Given the description of an element on the screen output the (x, y) to click on. 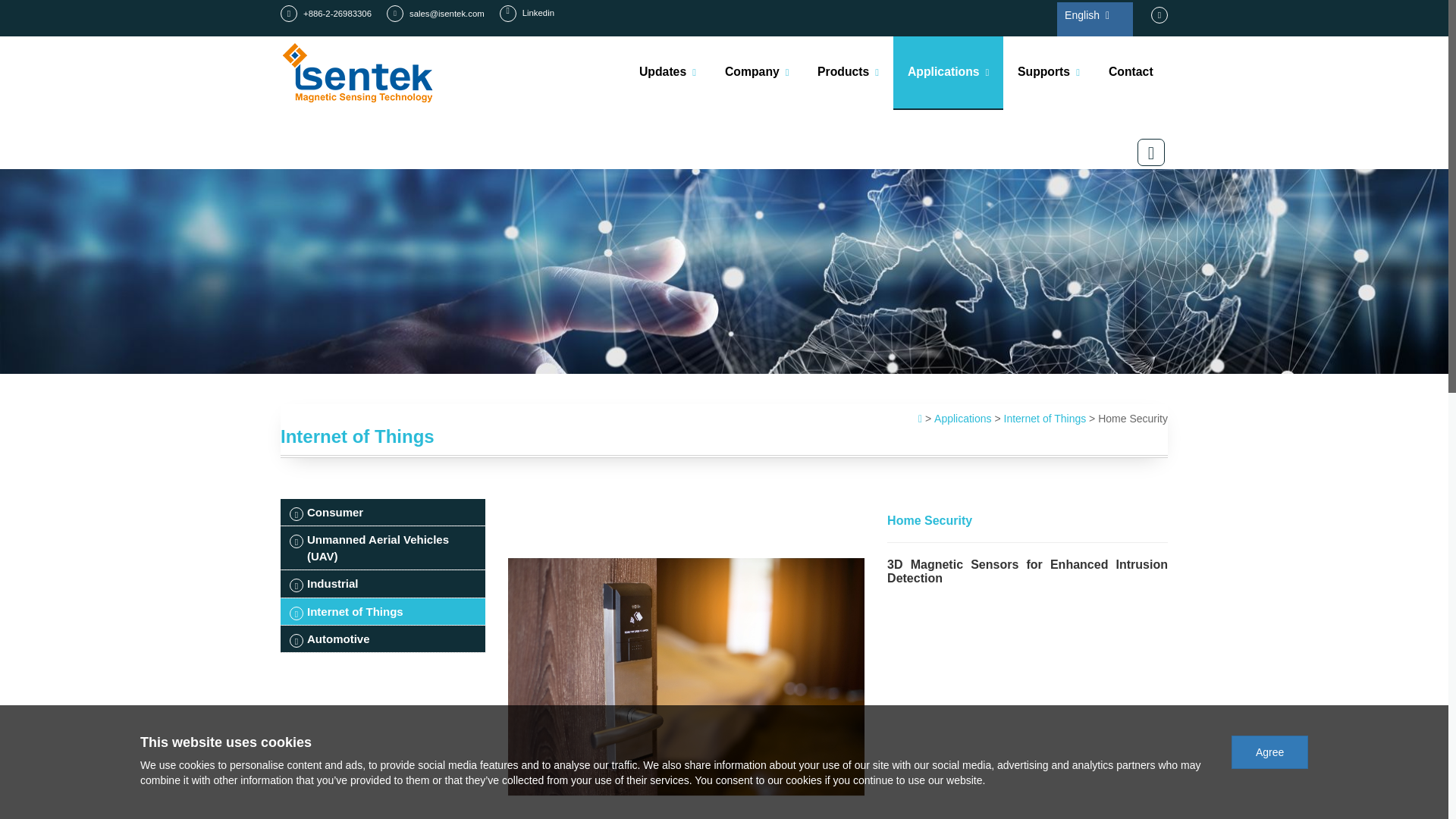
Applications (962, 418)
Supports (1048, 72)
3D Magnetic Sensor (878, 120)
Tech Sharing (682, 113)
Internet of Things (1004, 111)
isentek youtube (1159, 14)
Internet of Things (1045, 418)
Industrial (1000, 113)
Achievements (678, 116)
Automotive (1007, 109)
